Given the description of an element on the screen output the (x, y) to click on. 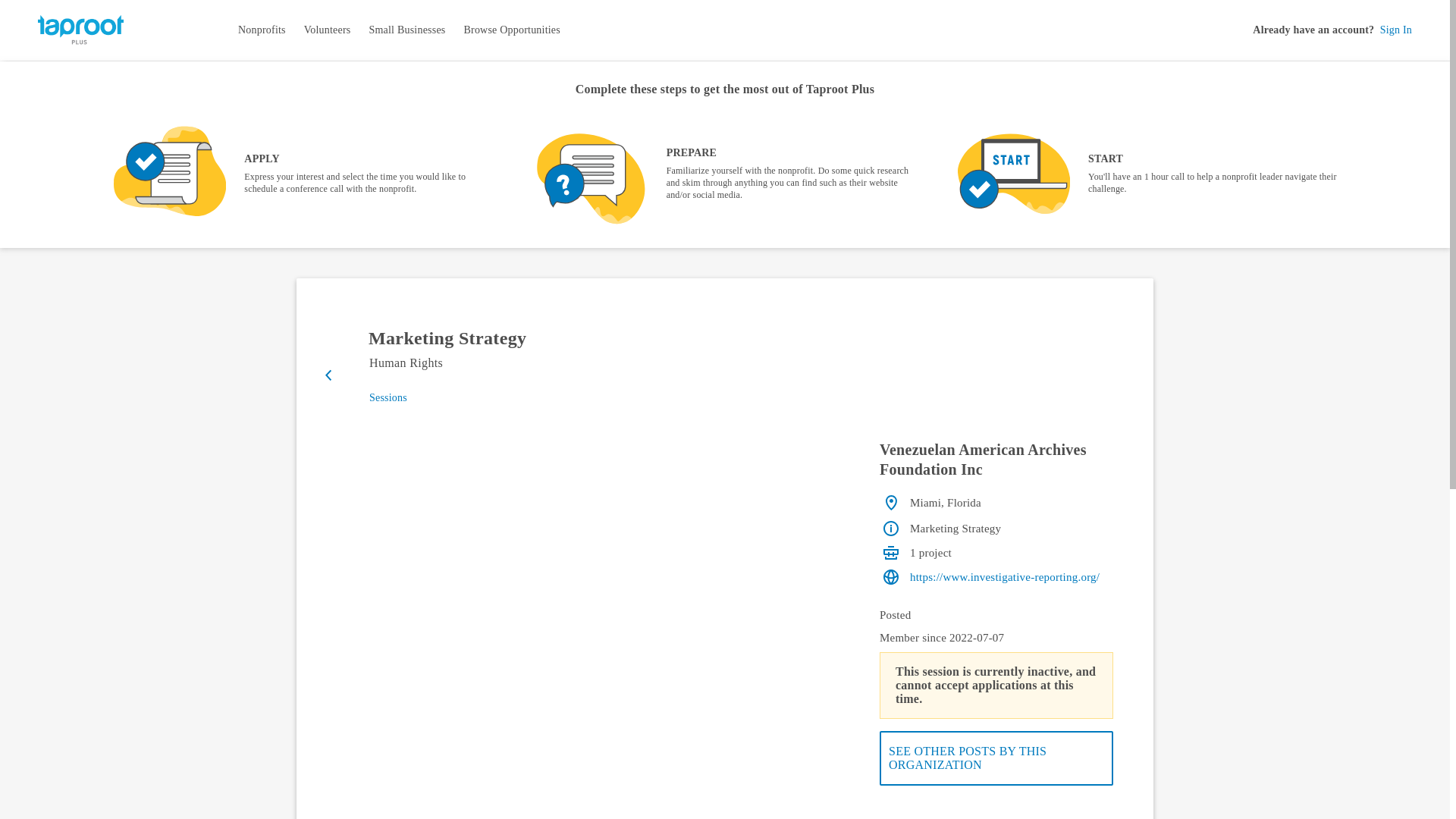
Volunteers (327, 29)
Browse Opportunities (511, 29)
Sign In (1396, 29)
SEE OTHER POSTS BY THIS ORGANIZATION (996, 758)
Nonprofits (261, 29)
Small Businesses (406, 29)
